Given the description of an element on the screen output the (x, y) to click on. 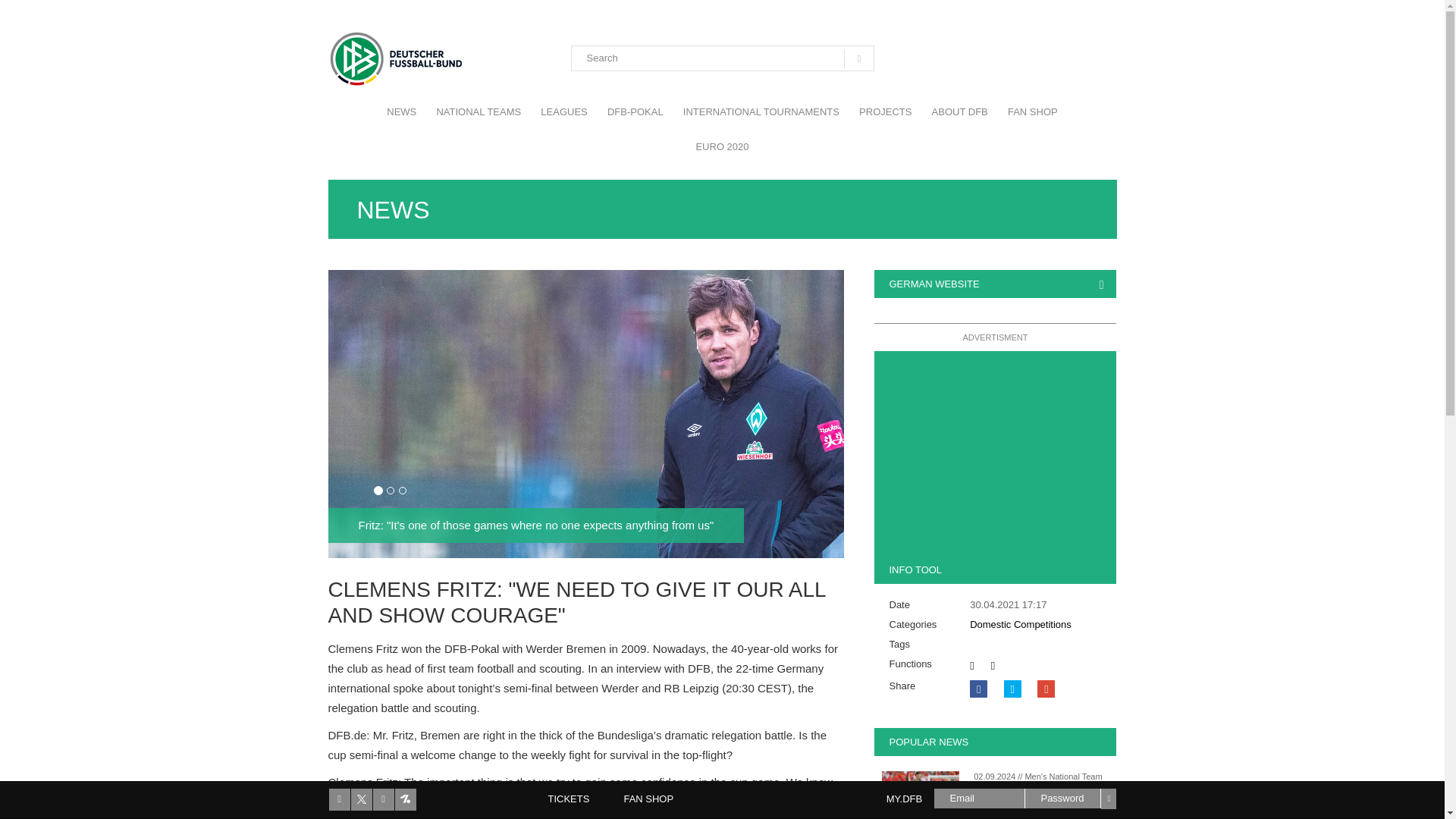
Imago Images (919, 792)
FAN SHOP (1031, 112)
ABOUT DFB (959, 112)
Twitter (1013, 688)
NEWS (401, 112)
PROJECTS (885, 112)
LEAGUES (563, 112)
Domestic Competitions (1020, 624)
DFB-POKAL (634, 112)
EURO 2020 (722, 146)
